Given the description of an element on the screen output the (x, y) to click on. 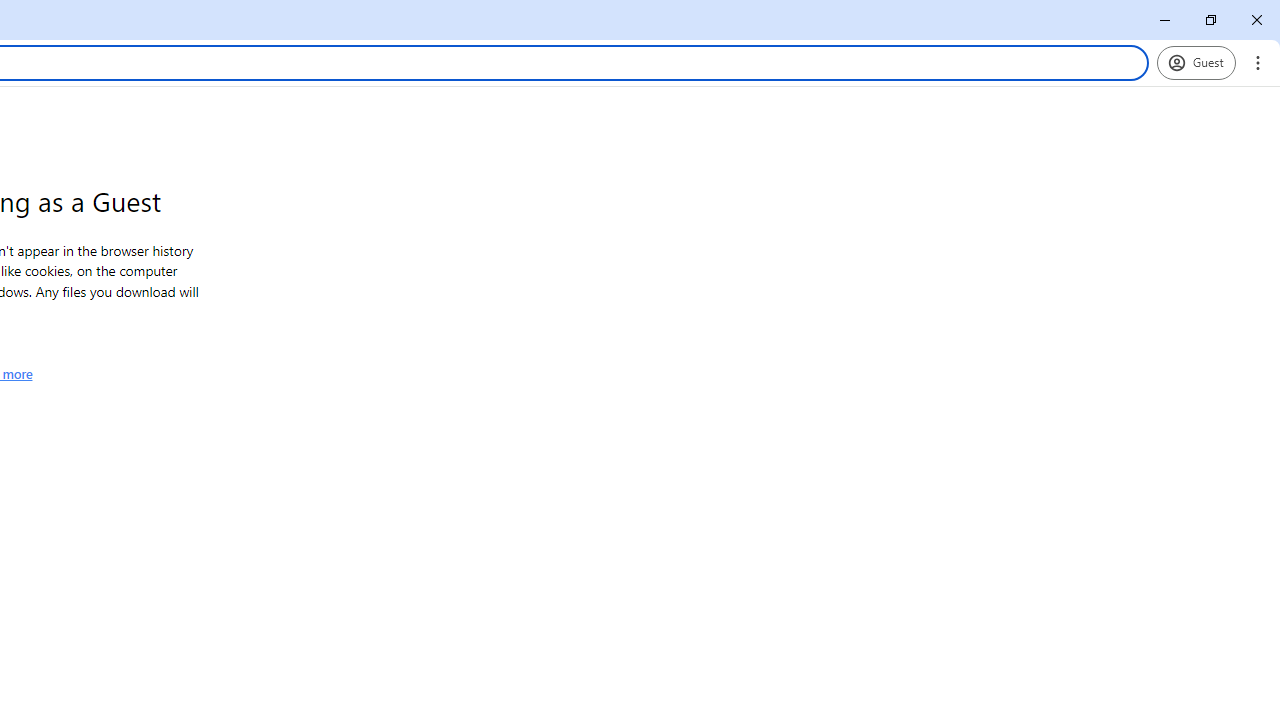
Guest (1196, 62)
